Given the description of an element on the screen output the (x, y) to click on. 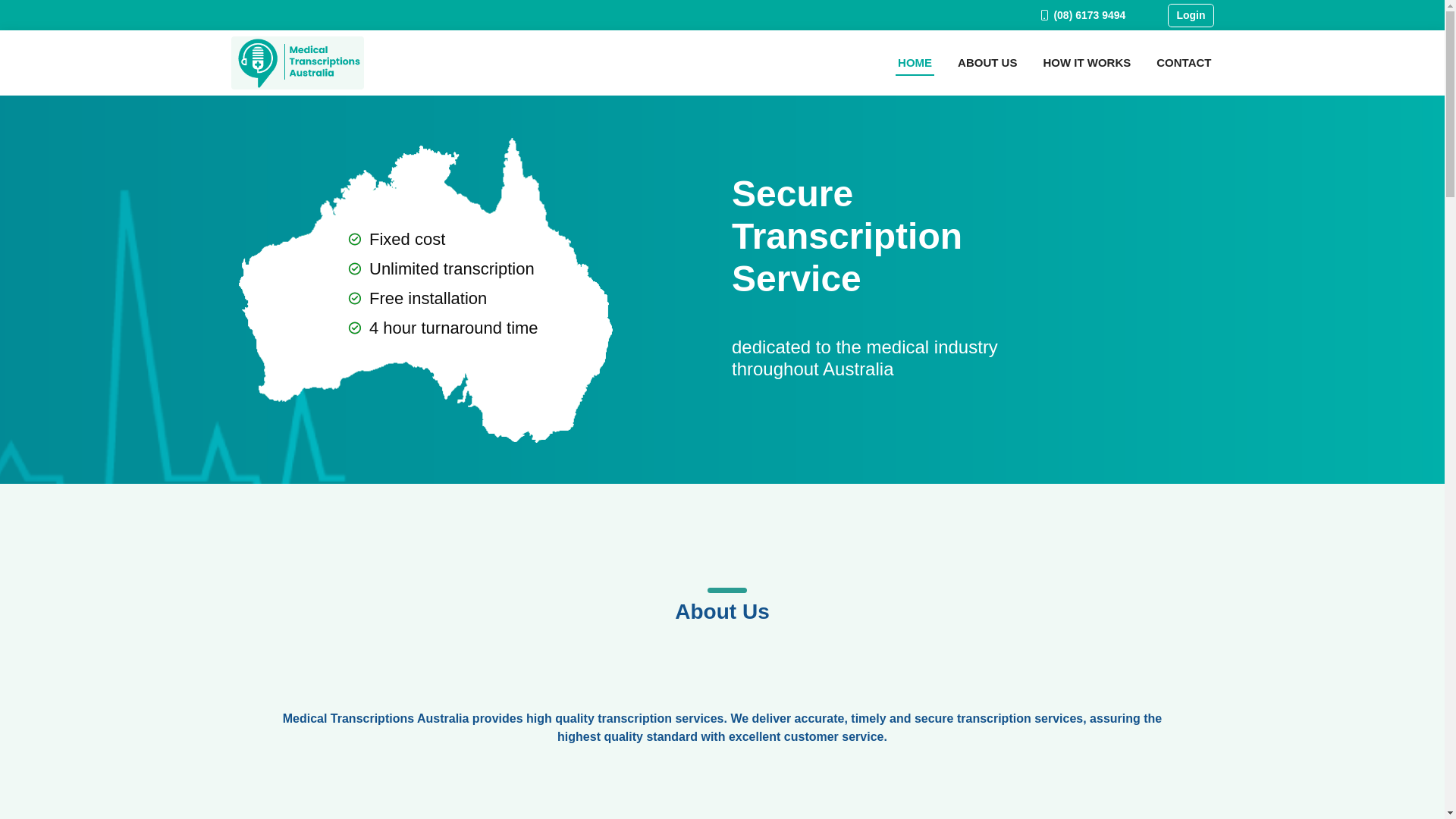
CONTACT Element type: text (1183, 63)
Login Element type: text (1190, 14)
HOME Element type: text (914, 63)
HOW IT WORKS Element type: text (1086, 63)
(08) 6173 9494 Element type: text (1072, 15)
ABOUT US Element type: text (987, 63)
